Given the description of an element on the screen output the (x, y) to click on. 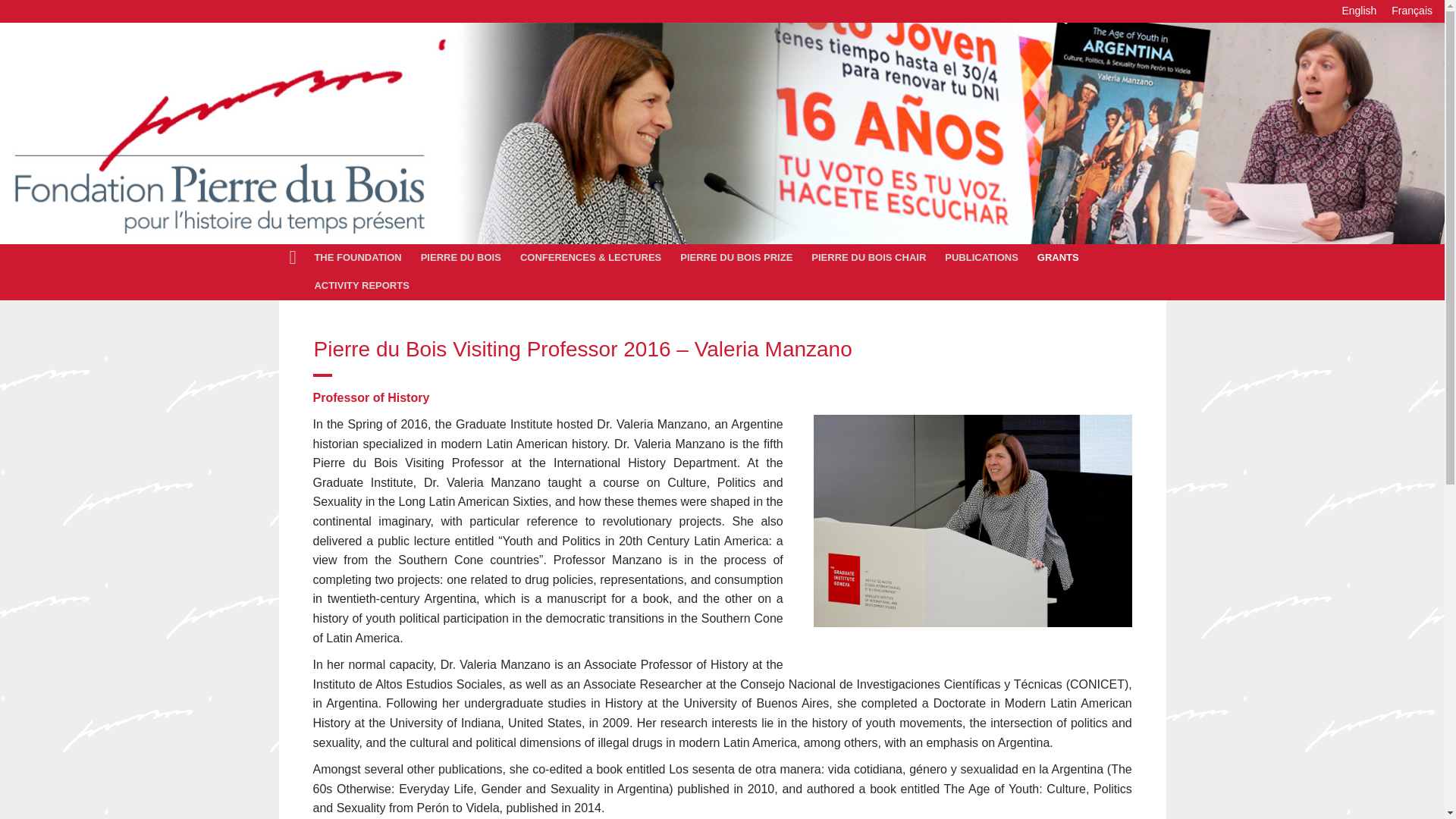
English (1358, 10)
Pierre du Bois (462, 257)
PIERRE DU BOIS (462, 257)
